Given the description of an element on the screen output the (x, y) to click on. 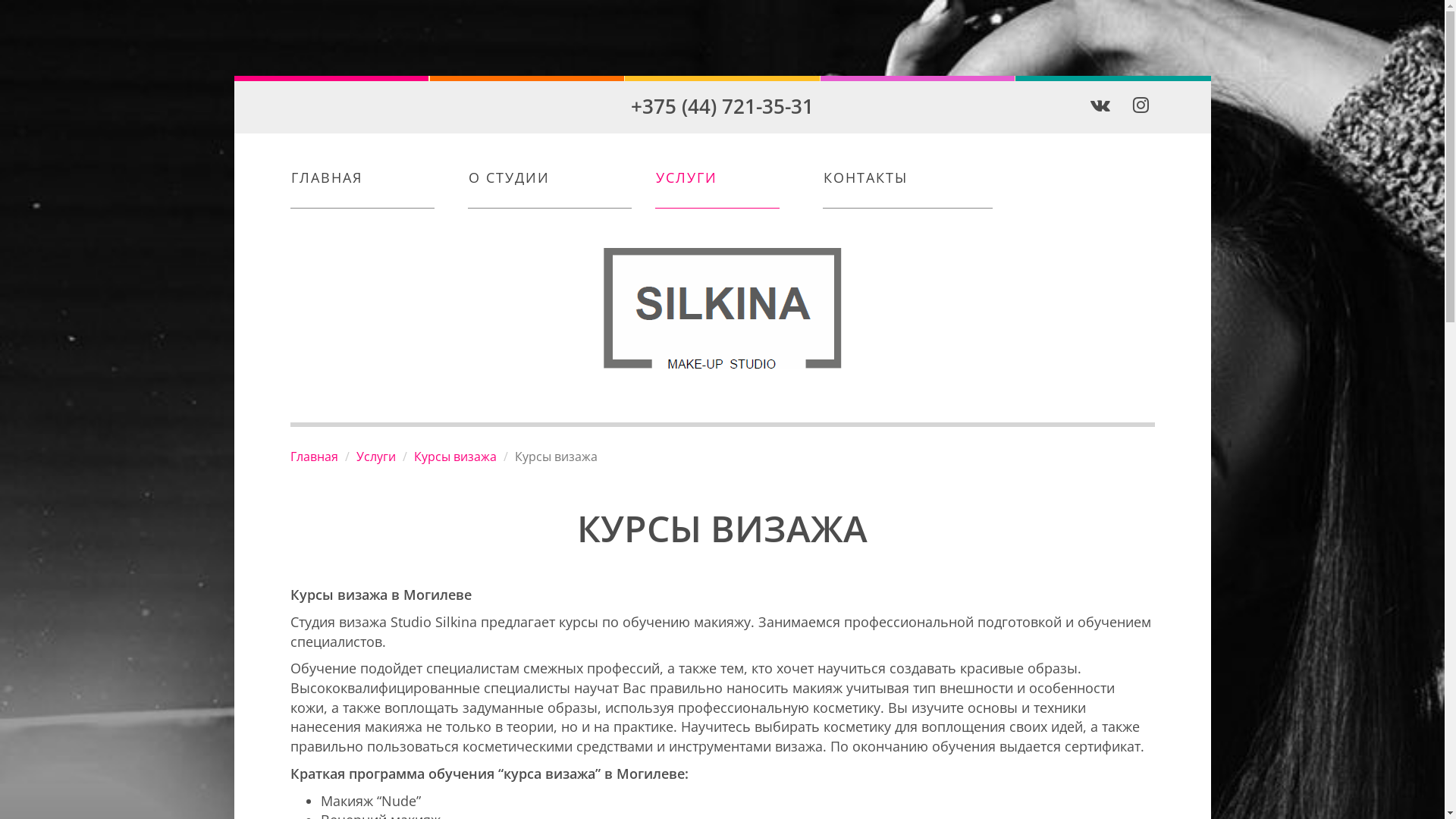
+375 (44) 721-35-31 Element type: text (721, 105)
